Given the description of an element on the screen output the (x, y) to click on. 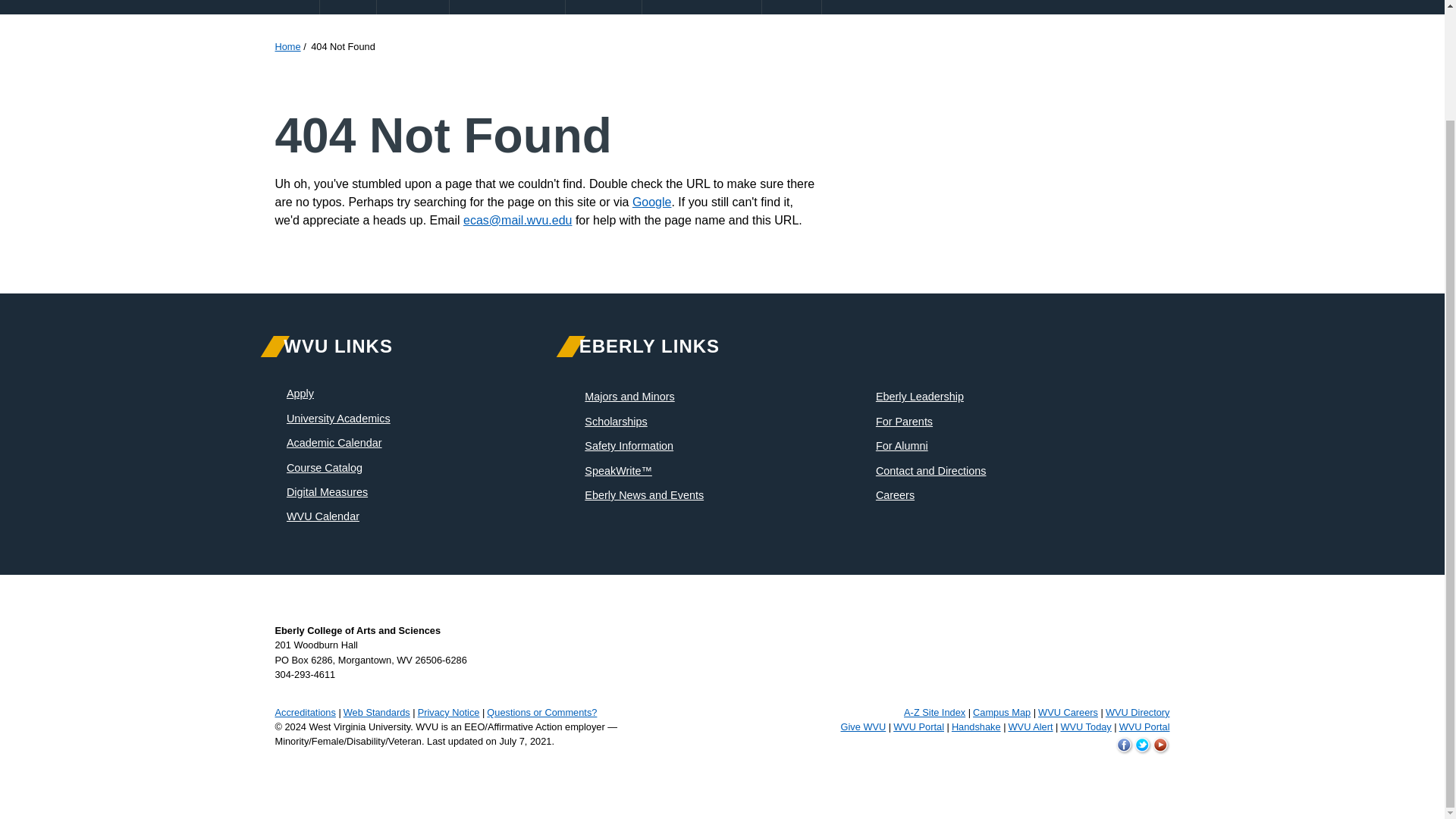
Contact and Directions (931, 470)
Students (412, 7)
Research (604, 7)
Careers (895, 494)
News and Events (701, 7)
Academic Calendar (333, 442)
Privacy Notice (448, 712)
Scholarships (615, 421)
Course Catalog (324, 467)
Home (287, 46)
Questions or Comments? (541, 712)
Faculty and Staff (506, 7)
WVU Calendar (322, 516)
Google (651, 201)
For Alumni (902, 445)
